Given the description of an element on the screen output the (x, y) to click on. 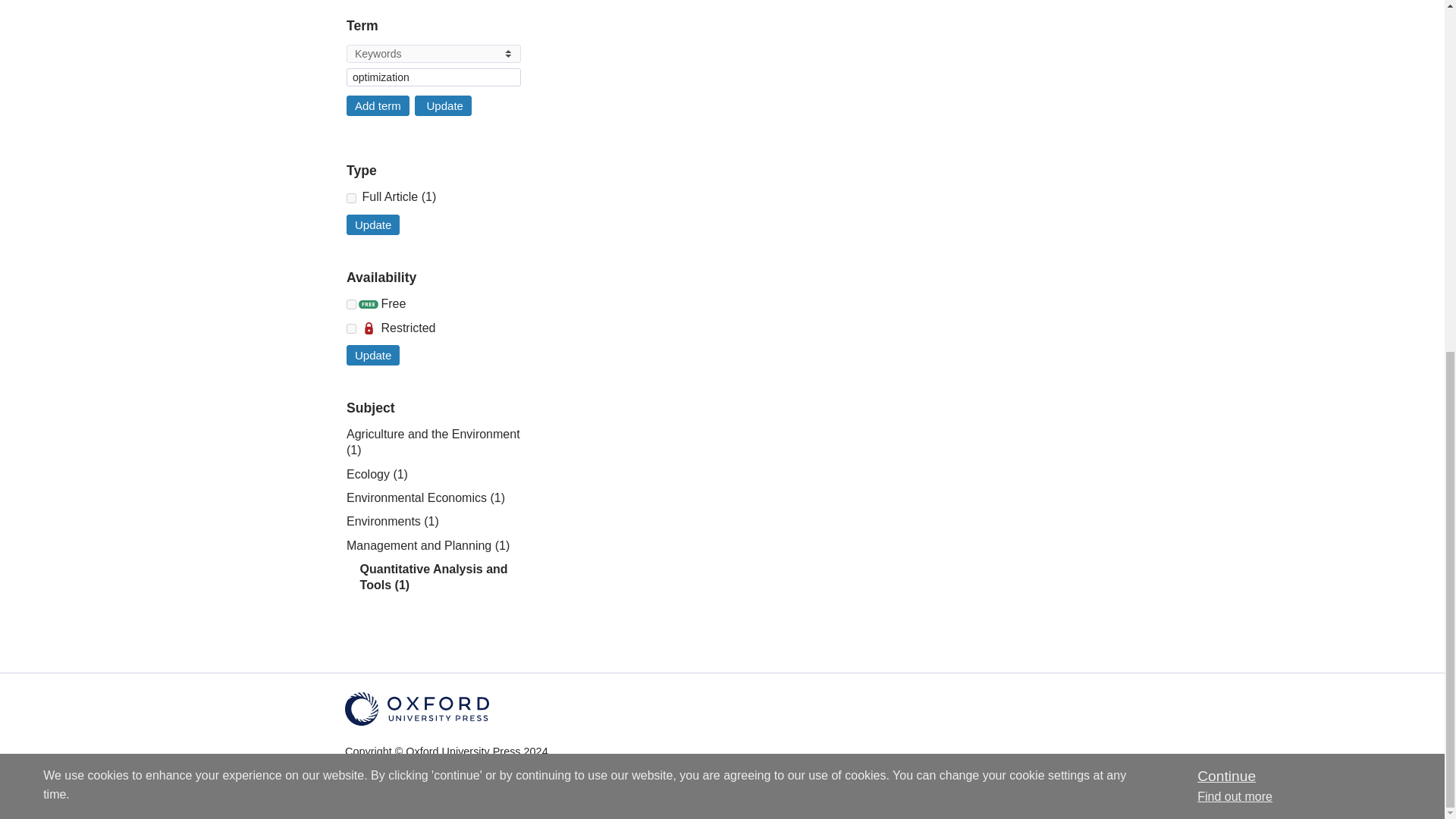
optimization (433, 76)
How we use cookies on this site (1234, 185)
Continue (1225, 164)
Subject Reference (351, 198)
Find out more (1234, 185)
locked (351, 328)
free (351, 304)
 Update (442, 105)
Close this message (1225, 164)
